Given the description of an element on the screen output the (x, y) to click on. 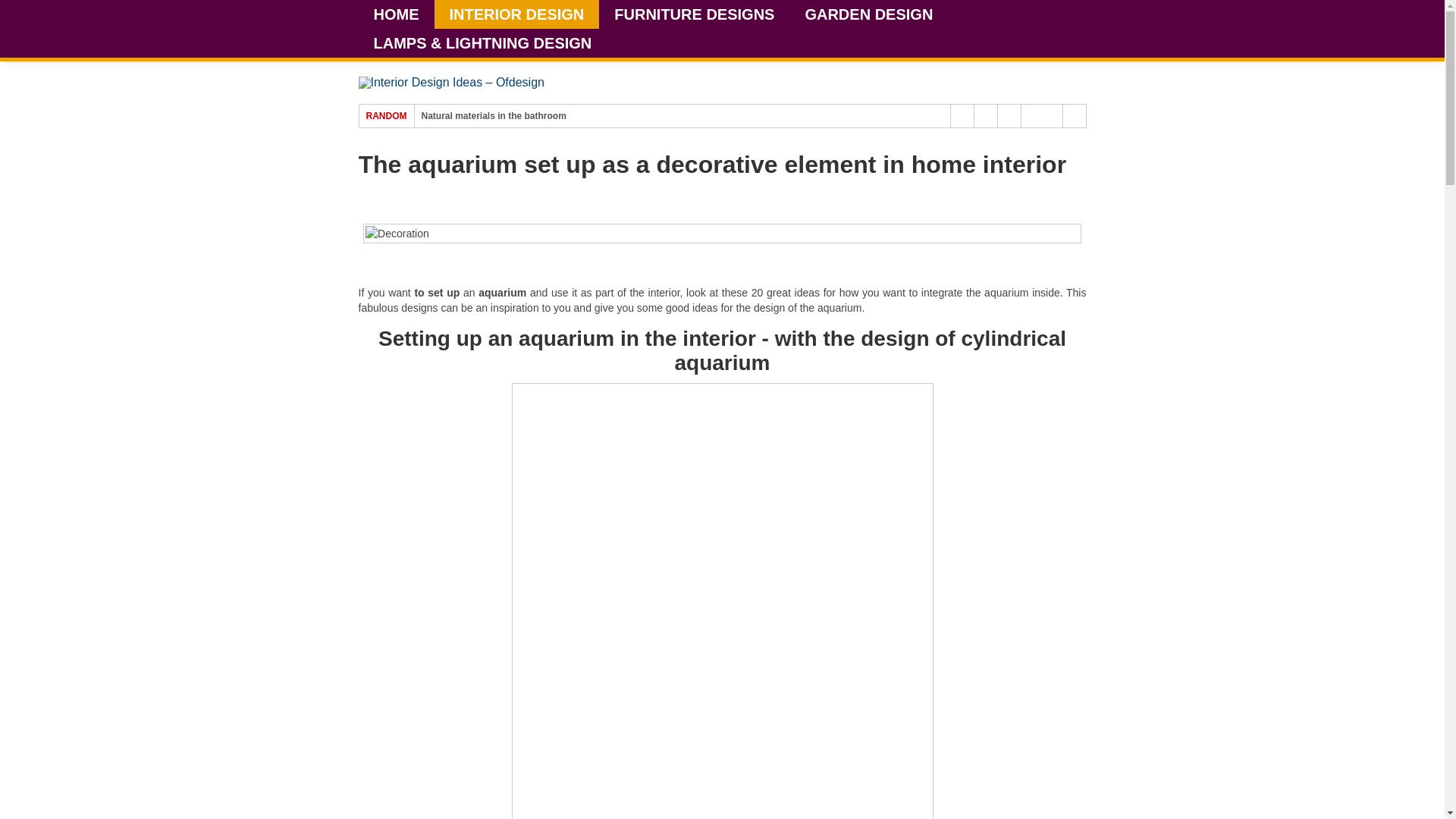
FURNITURE DESIGNS (693, 14)
Decoration (721, 233)
INTERIOR DESIGN (515, 14)
HOME (395, 14)
Natural materials in the bathroom (494, 115)
GARDEN DESIGN (868, 14)
